Given the description of an element on the screen output the (x, y) to click on. 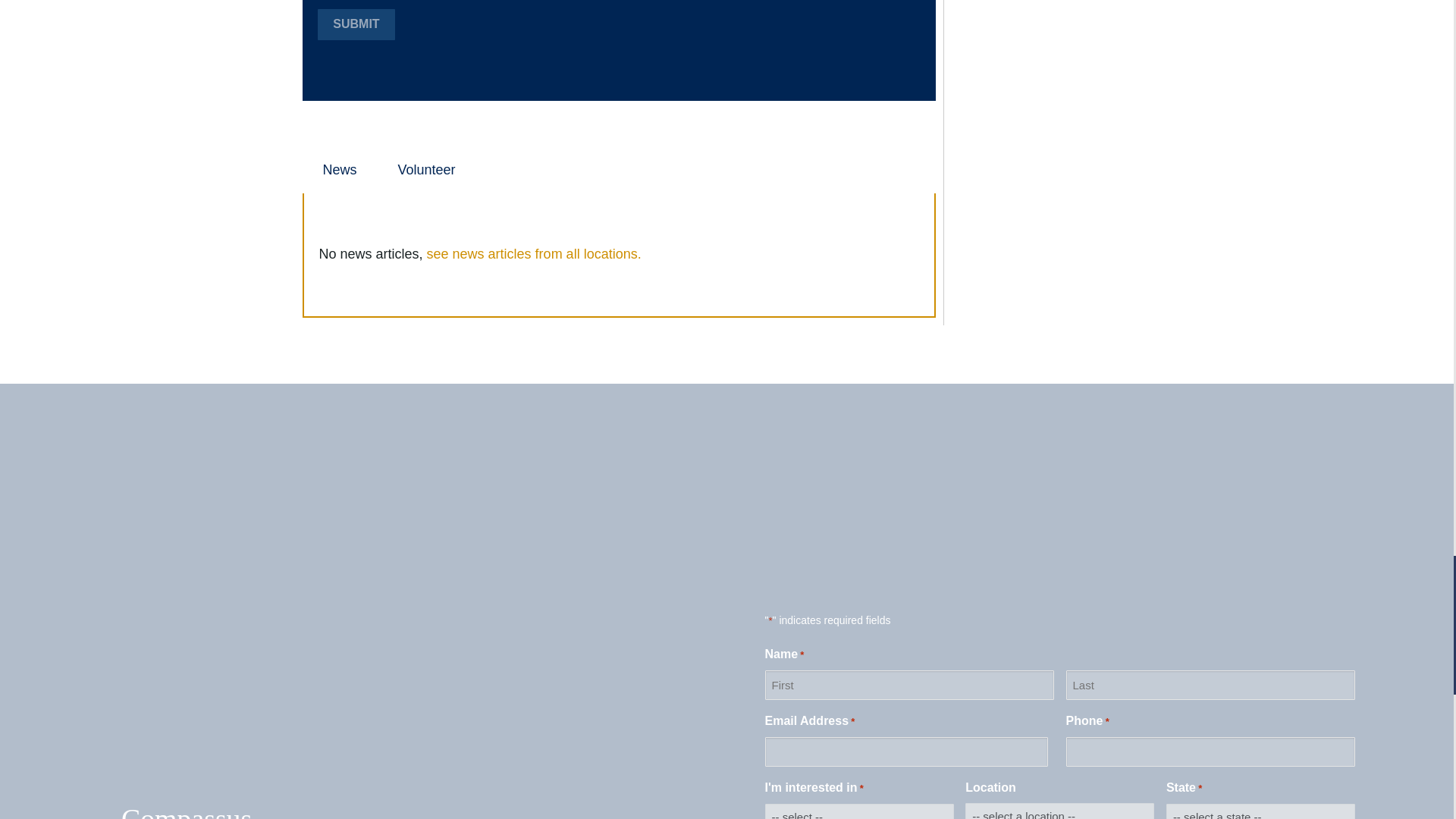
Submit (355, 24)
